Given the description of an element on the screen output the (x, y) to click on. 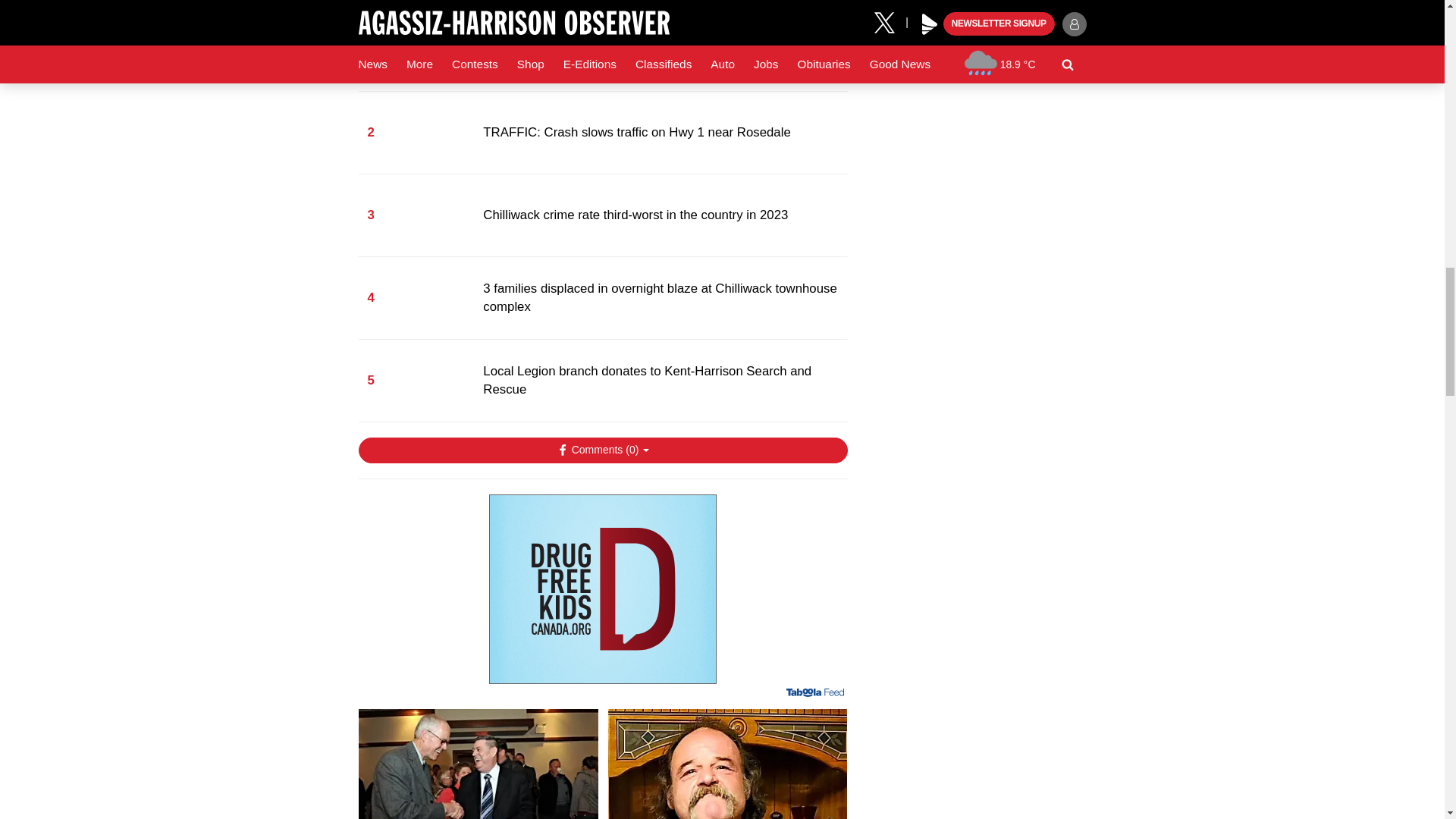
3rd party ad content (602, 588)
Show Comments (602, 450)
